Given the description of an element on the screen output the (x, y) to click on. 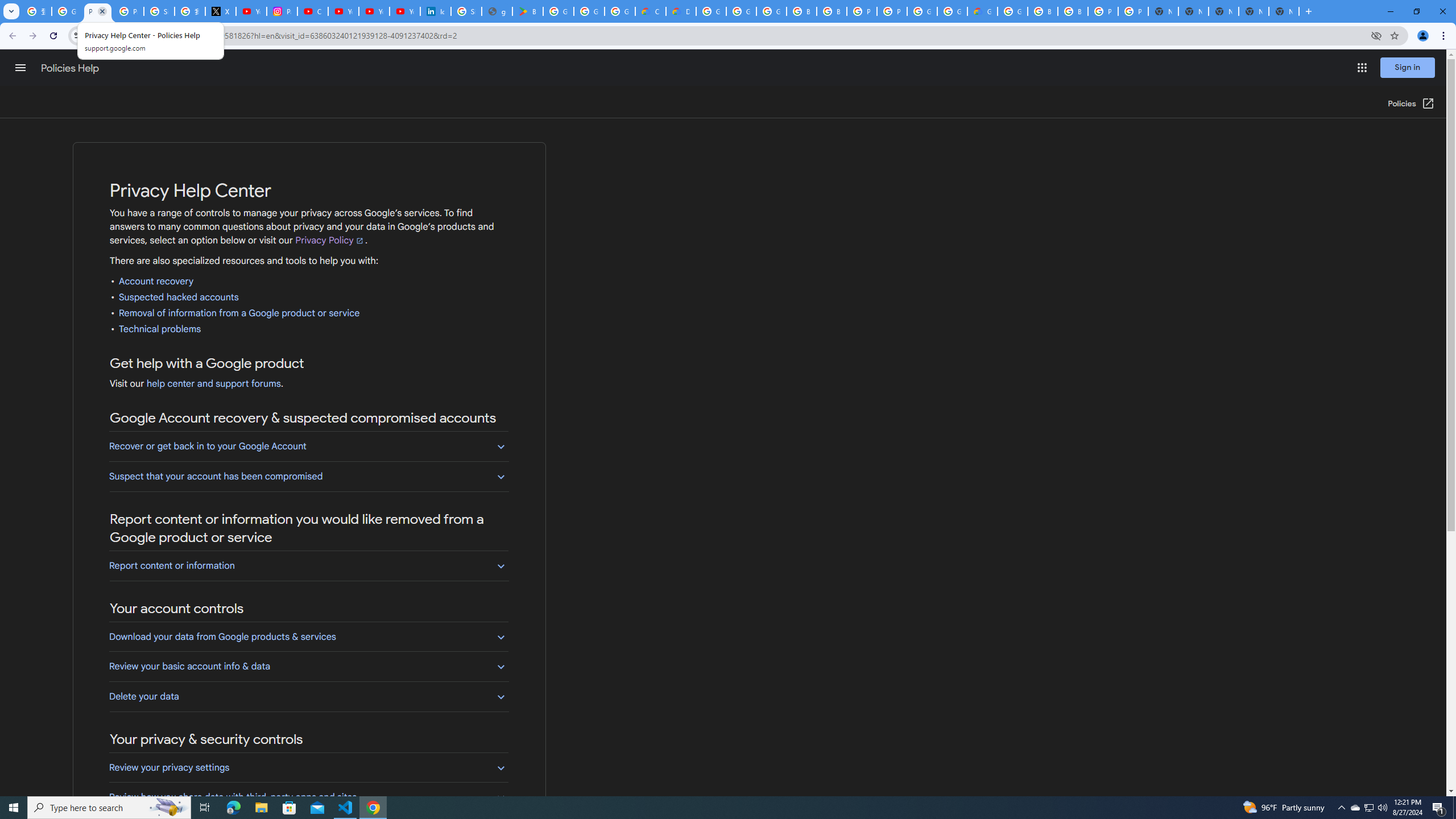
Browse Chrome as a guest - Computer - Google Chrome Help (1042, 11)
Bluey: Let's Play! - Apps on Google Play (527, 11)
YouTube Culture & Trends - YouTube Top 10, 2021 (404, 11)
Recover or get back in to your Google Account (308, 445)
help center and support forums (213, 383)
Sign in - Google Accounts (158, 11)
google_privacy_policy_en.pdf (496, 11)
YouTube Culture & Trends - YouTube Top 10, 2021 (373, 11)
Review your basic account info & data (308, 666)
